Given the description of an element on the screen output the (x, y) to click on. 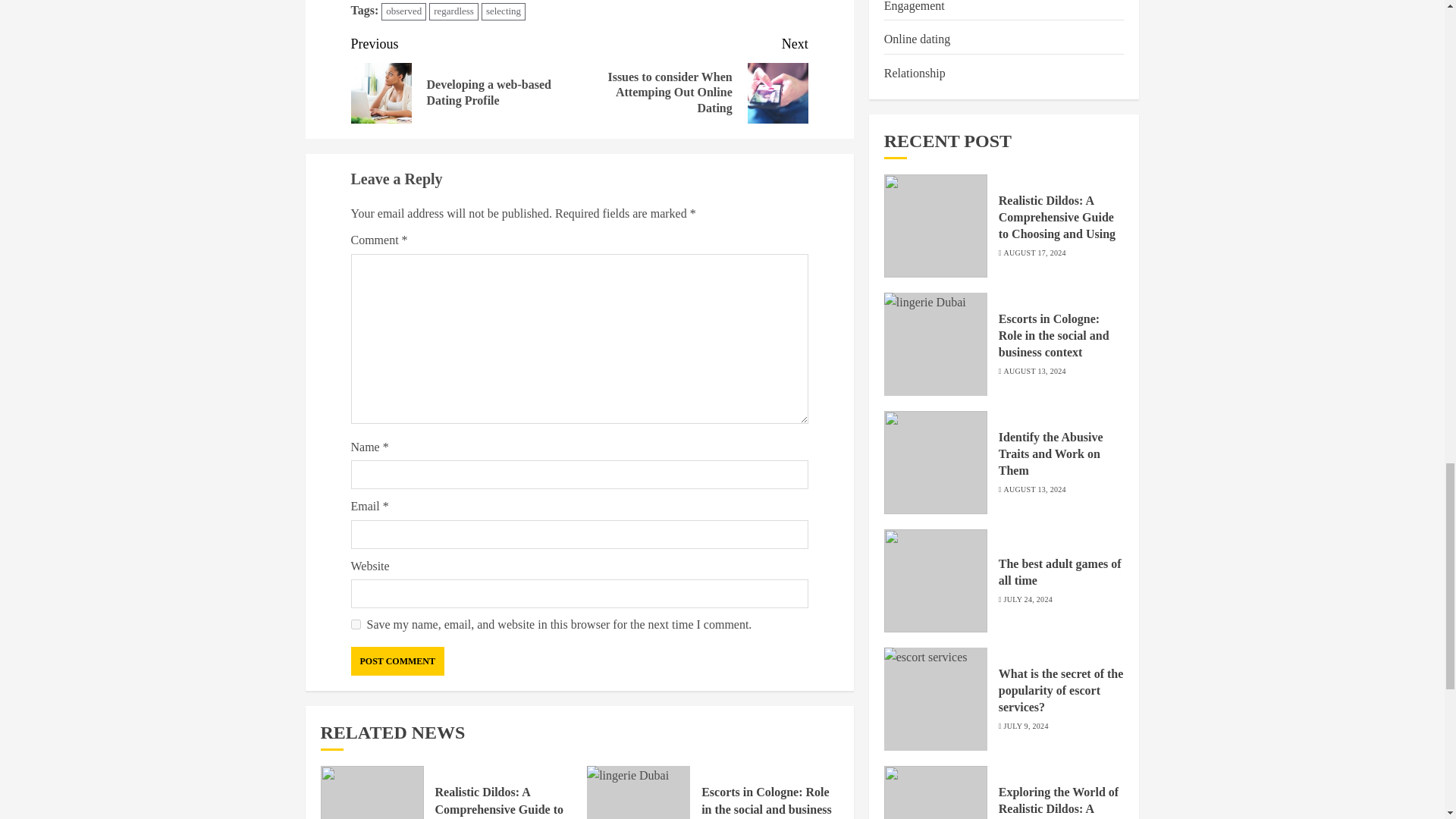
Post Comment (397, 661)
observed (403, 11)
regardless (454, 11)
selecting (503, 11)
yes (354, 624)
Post Comment (397, 661)
Escorts in Cologne: Role in the social and business context (766, 802)
